Given the description of an element on the screen output the (x, y) to click on. 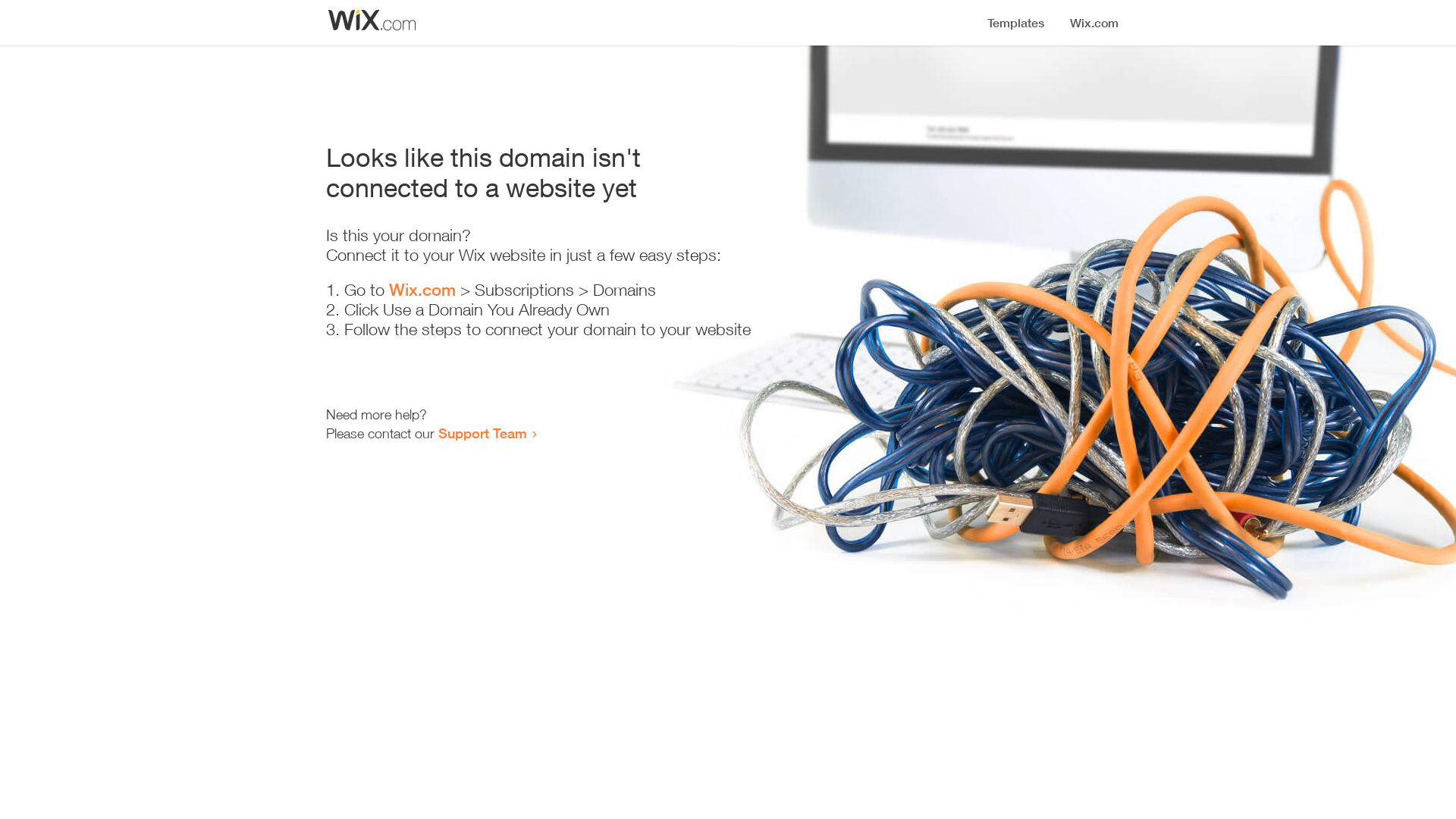
Support Team Element type: text (482, 432)
Wix.com Element type: text (422, 289)
